Given the description of an element on the screen output the (x, y) to click on. 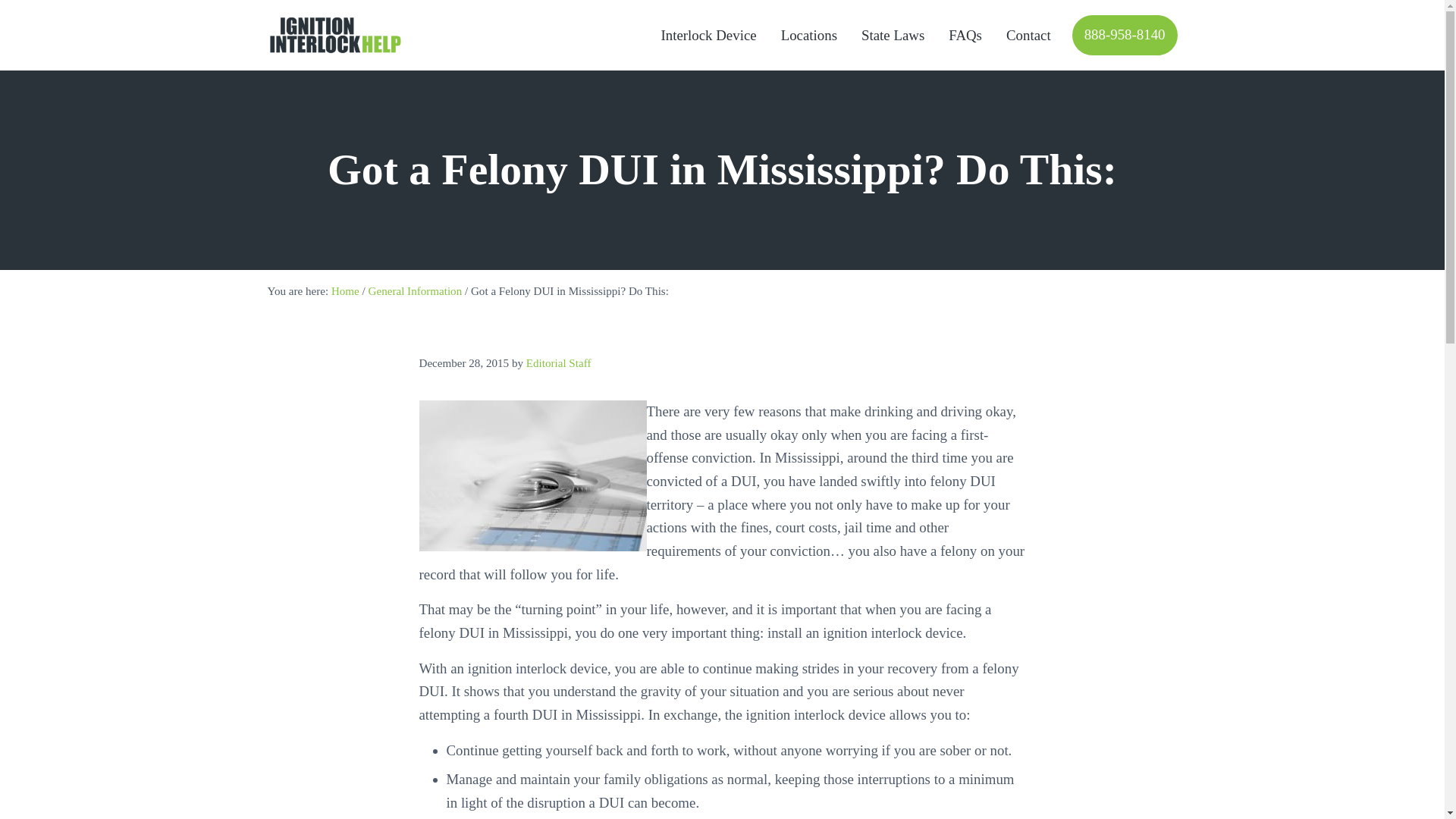
Contact (1028, 35)
Editorial Staff (558, 363)
General Information (415, 291)
FAQs (965, 35)
888-958-8140 (1124, 35)
Interlock Device (707, 35)
Locations (808, 35)
Home (345, 291)
State Laws (892, 35)
